Given the description of an element on the screen output the (x, y) to click on. 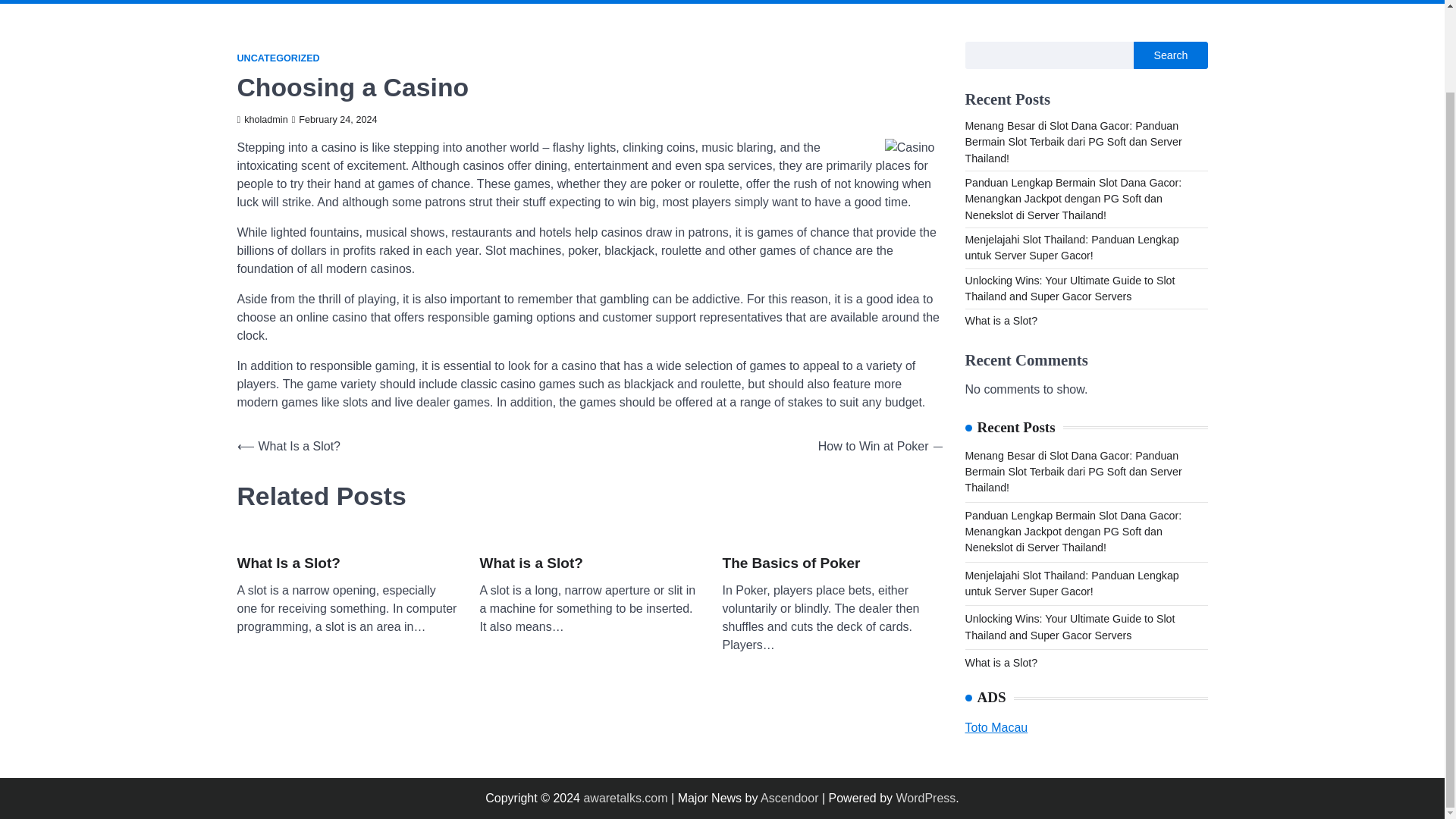
What is a Slot? (530, 563)
Toto Macau (995, 727)
Search (1170, 54)
What Is a Slot? (287, 563)
The Basics of Poker (791, 563)
kholadmin (260, 119)
Search (1168, 17)
Ascendoor (789, 797)
awaretalks.com (624, 797)
February 24, 2024 (334, 119)
What is a Slot? (999, 320)
WordPress (925, 797)
